Given the description of an element on the screen output the (x, y) to click on. 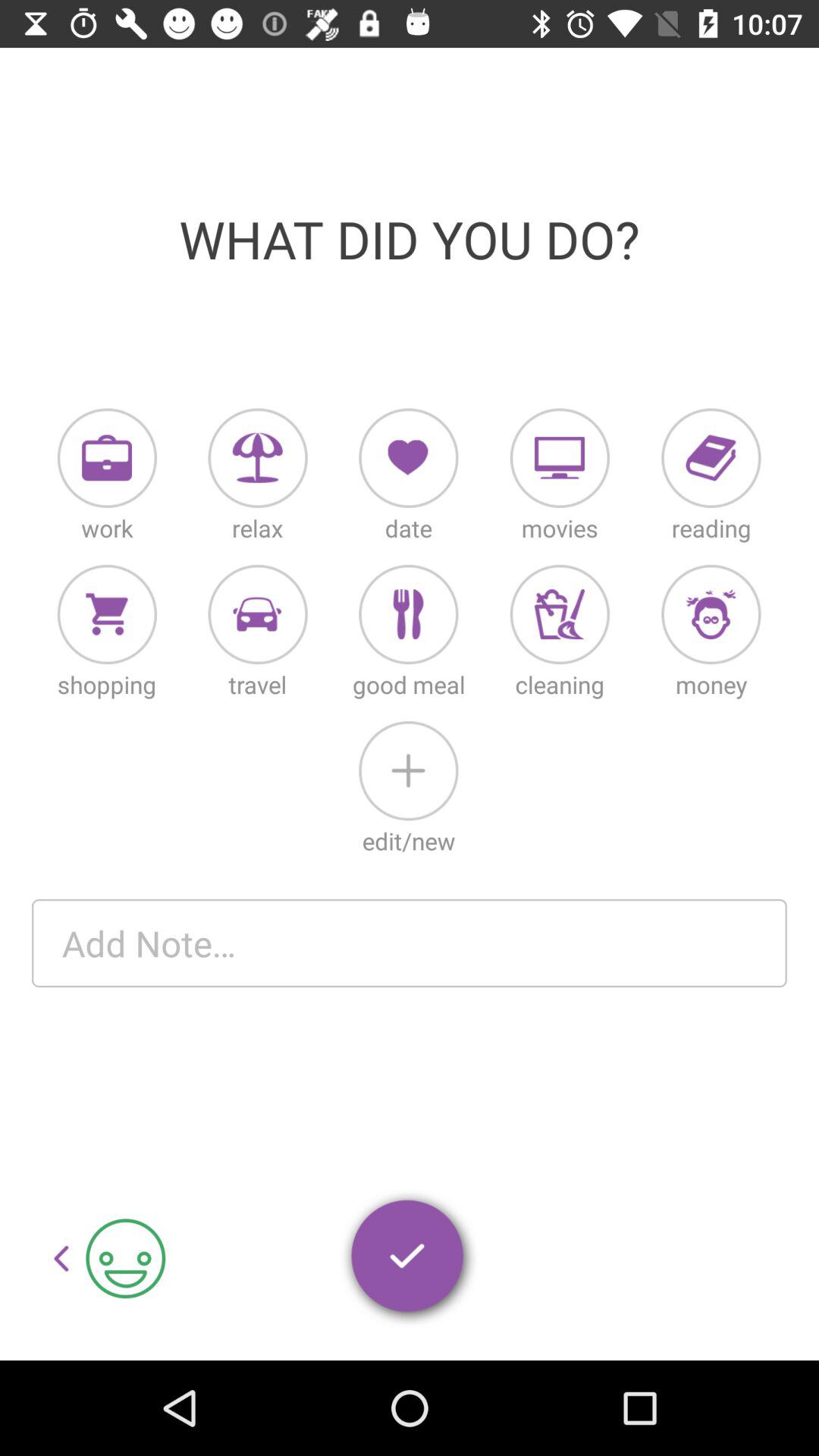
employment information (106, 457)
